Given the description of an element on the screen output the (x, y) to click on. 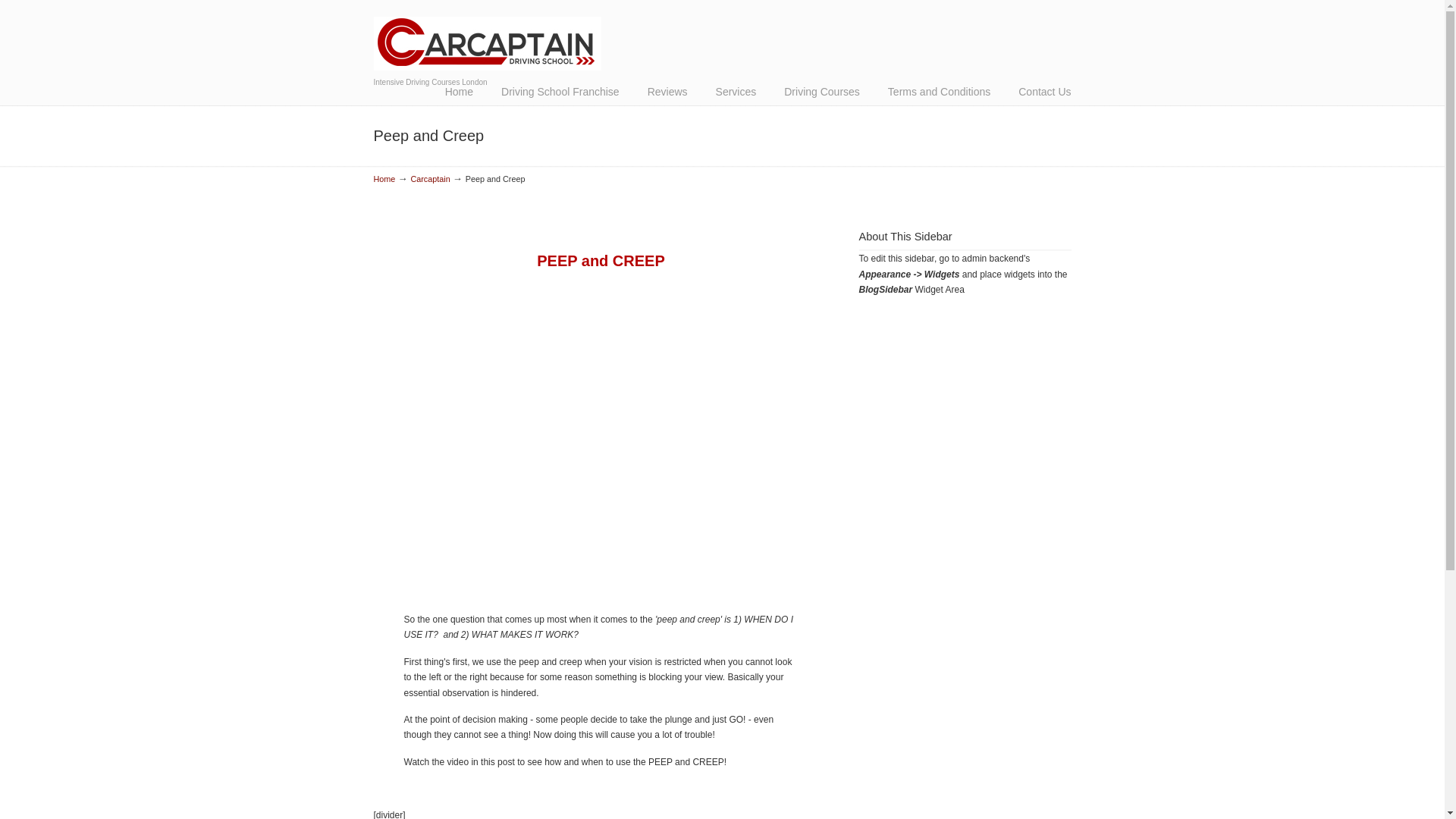
Services (735, 91)
Carcaptain Intensive Driving Courses (485, 37)
Home (458, 91)
Driving Courses (821, 91)
YouTube player (600, 436)
Carcaptain Intensive Driving Courses (485, 37)
Reviews (667, 91)
Driving School Franchise (560, 91)
